Given the description of an element on the screen output the (x, y) to click on. 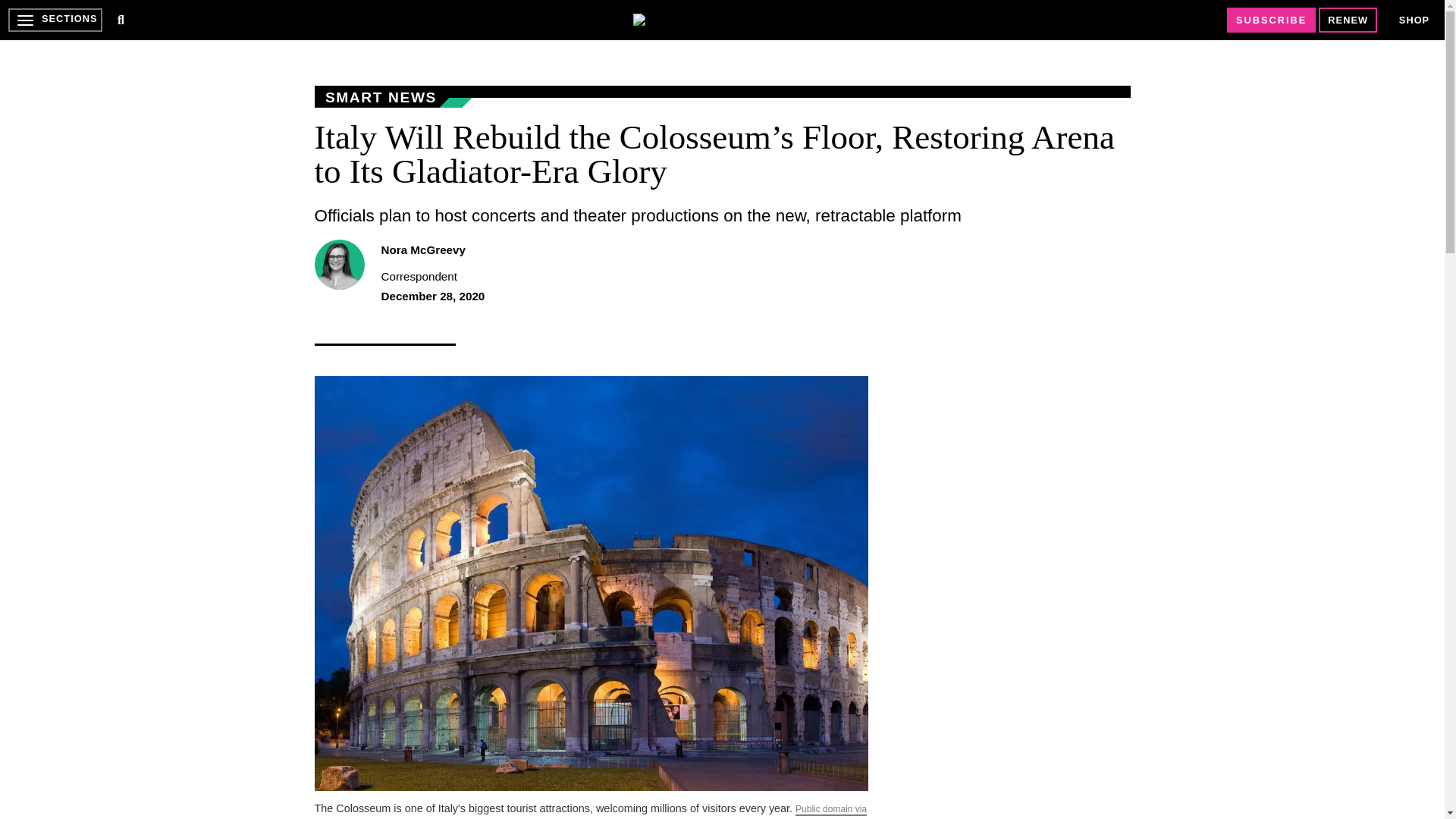
SECTIONS (55, 19)
SHOP (1414, 19)
SUBSCRIBE (1271, 19)
SHOP (1413, 19)
RENEW (1348, 19)
RENEW (1347, 19)
SUBSCRIBE (1271, 19)
